Given the description of an element on the screen output the (x, y) to click on. 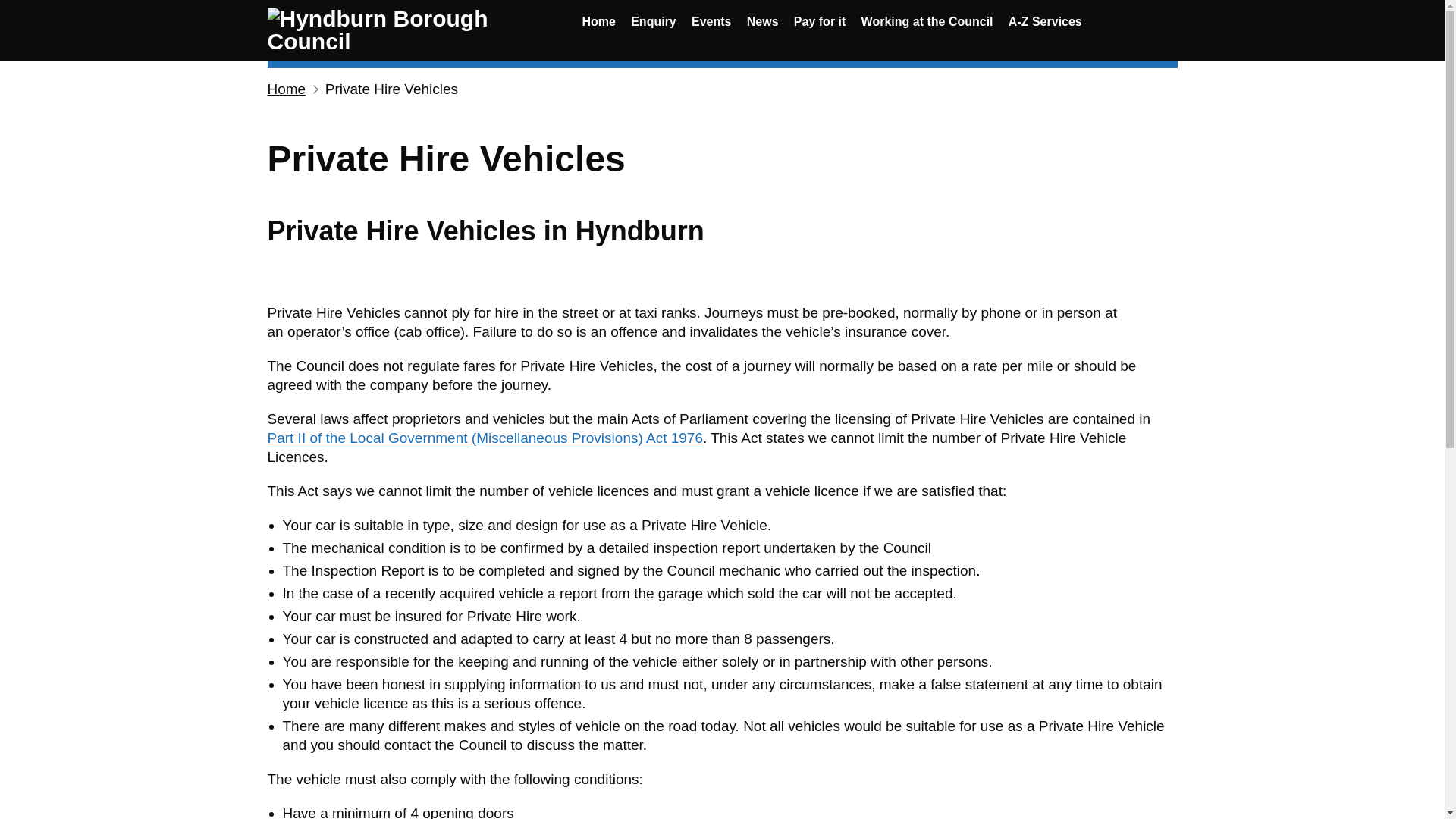
Enquiry (653, 21)
Pay for it (819, 21)
Events (710, 21)
A-Z Services (1045, 21)
Home (597, 21)
Home (285, 89)
Hyndburn Borough Council (408, 30)
Skip to main content (11, 7)
News (762, 21)
Working at the Council (926, 21)
